Given the description of an element on the screen output the (x, y) to click on. 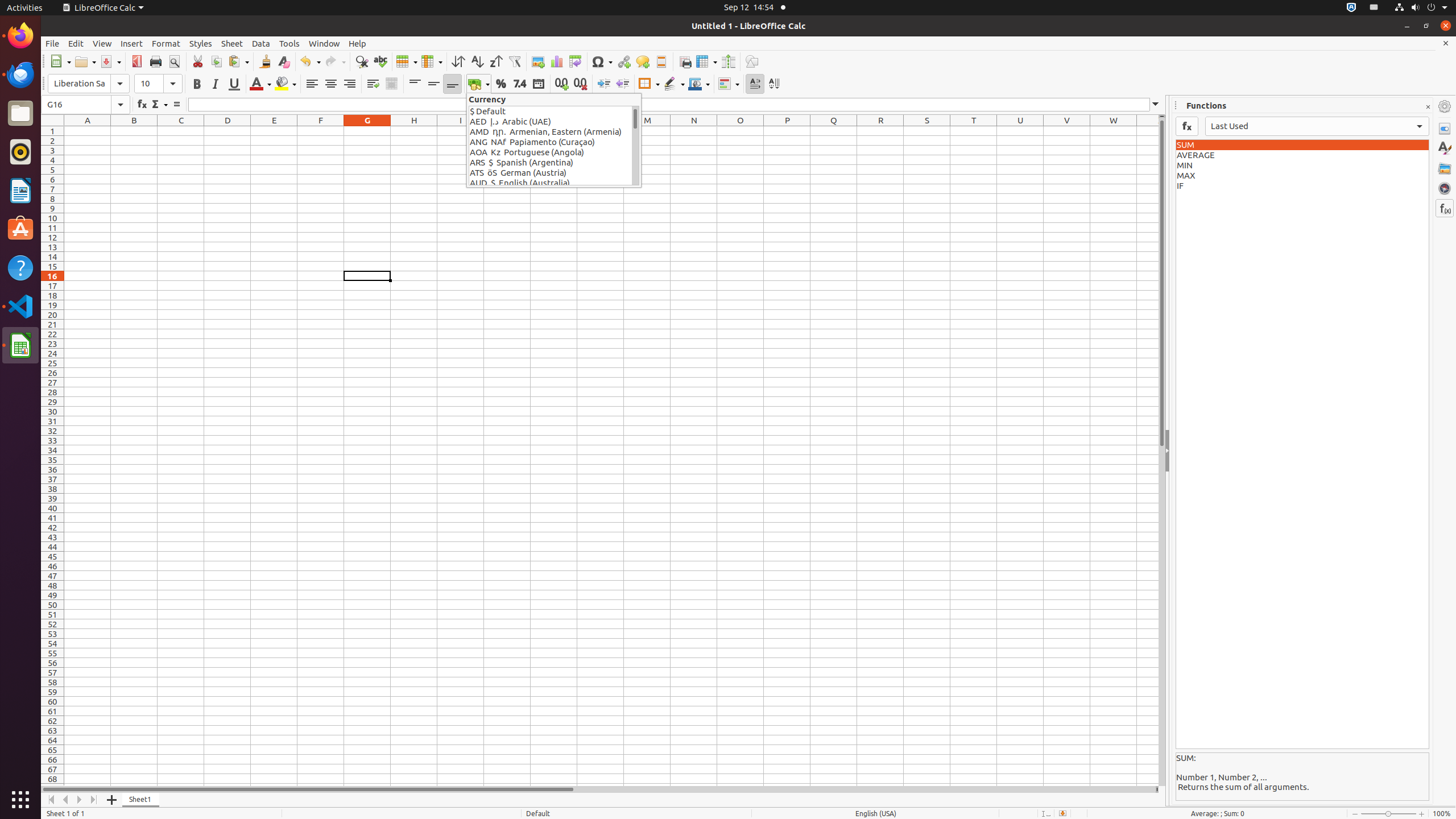
Border Color Element type: push-button (698, 83)
D1 Element type: table-cell (227, 130)
Borders (Shift to overwrite) Element type: push-button (648, 83)
Decrease Element type: push-button (622, 83)
‪AOA‬  ‪Kz‬  ‪Portuguese (Angola)‬ Element type: list-item (550, 152)
